Given the description of an element on the screen output the (x, y) to click on. 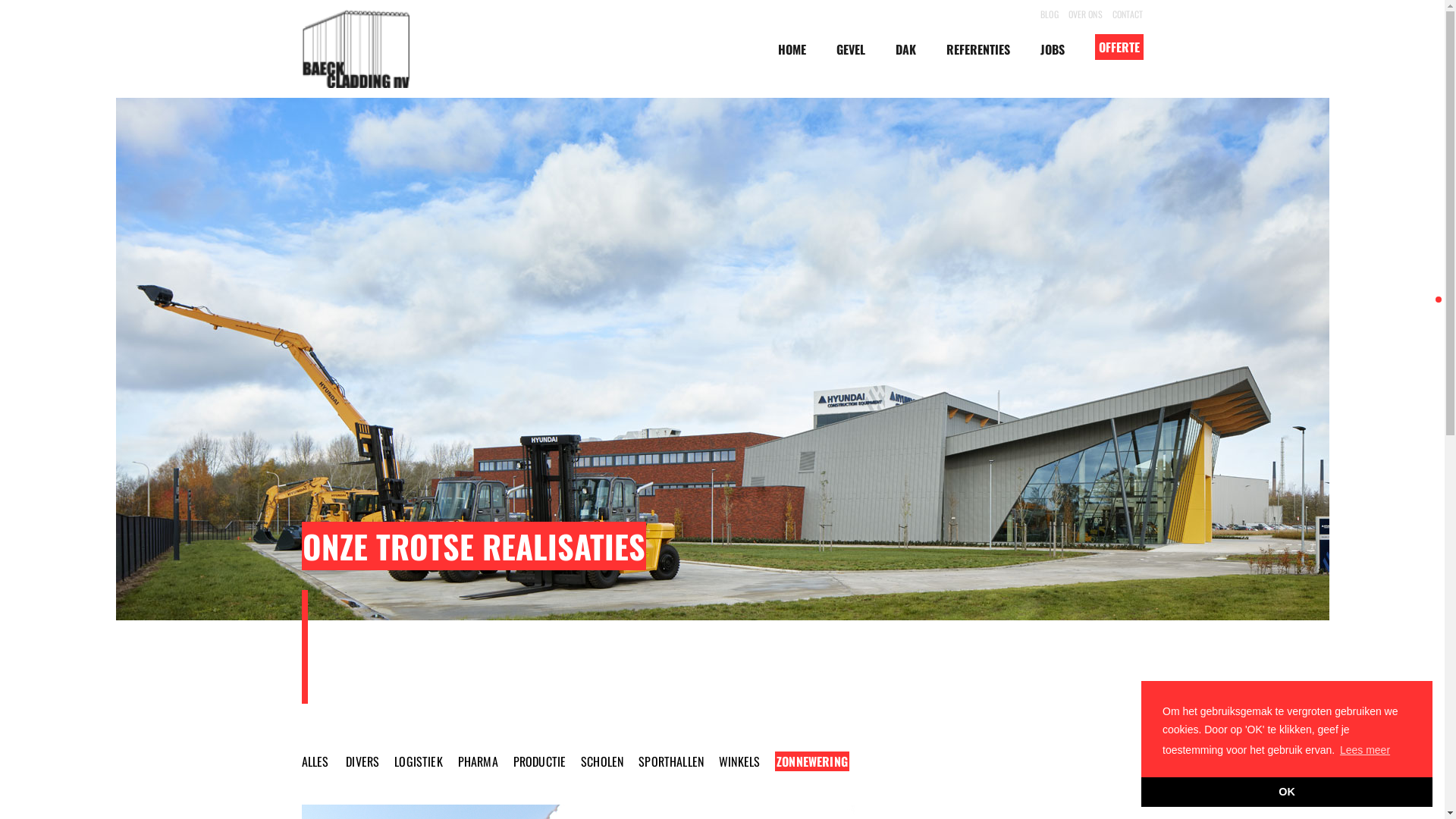
Baeck Cladding NV Element type: hover (355, 48)
ALLES Element type: text (315, 761)
JOBS Element type: text (1052, 48)
DAK Element type: text (904, 48)
SPORTHALLEN Element type: text (670, 761)
OFFERTE Element type: text (1119, 46)
WINKELS Element type: text (738, 761)
Lees meer Element type: text (1364, 749)
GEVEL Element type: text (849, 48)
SCHOLEN Element type: text (601, 761)
ZONNEWERING Element type: text (812, 761)
LOGISTIEK Element type: text (418, 761)
Skip to content Element type: text (0, 0)
PRODUCTIE Element type: text (539, 761)
PHARMA Element type: text (478, 761)
BLOG Element type: text (1048, 13)
HOME Element type: text (792, 48)
REFERENTIES Element type: text (978, 48)
DIVERS Element type: text (362, 761)
OVER ONS Element type: text (1085, 13)
OK Element type: text (1286, 791)
CONTACT Element type: text (1127, 13)
